Given the description of an element on the screen output the (x, y) to click on. 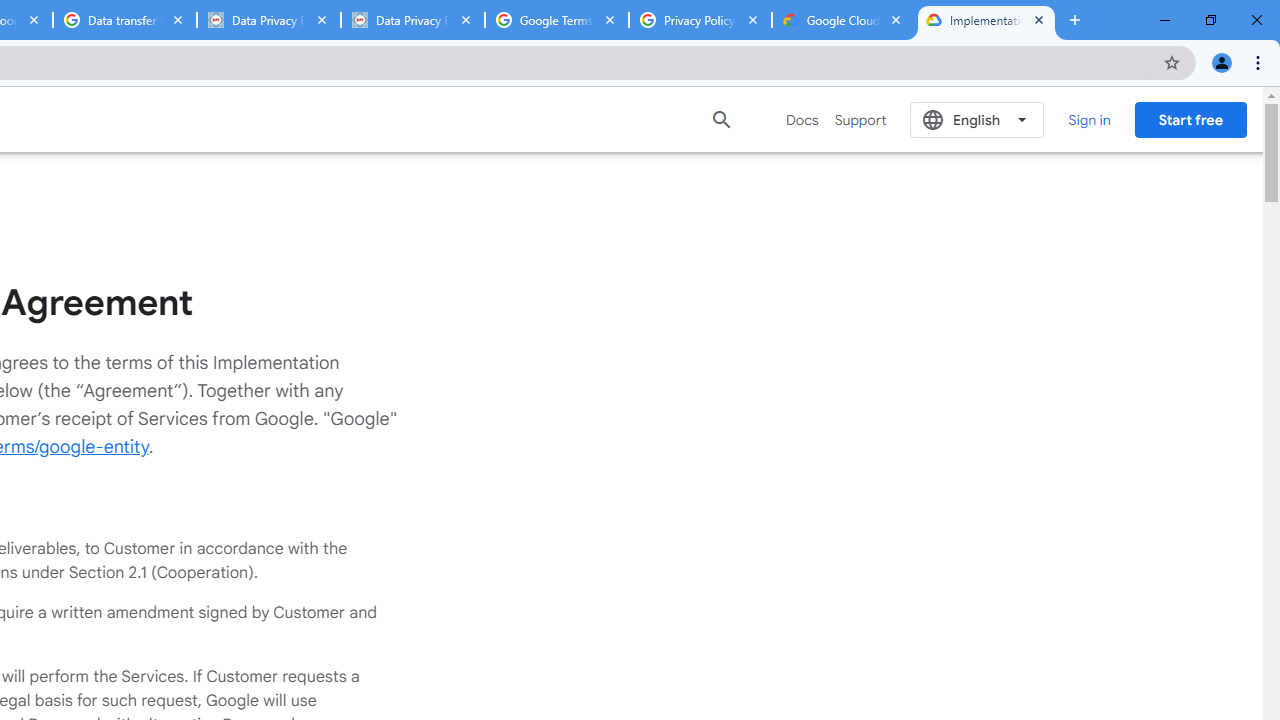
Google Cloud Privacy Notice (843, 20)
Docs (802, 119)
Start free (1190, 119)
